Given the description of an element on the screen output the (x, y) to click on. 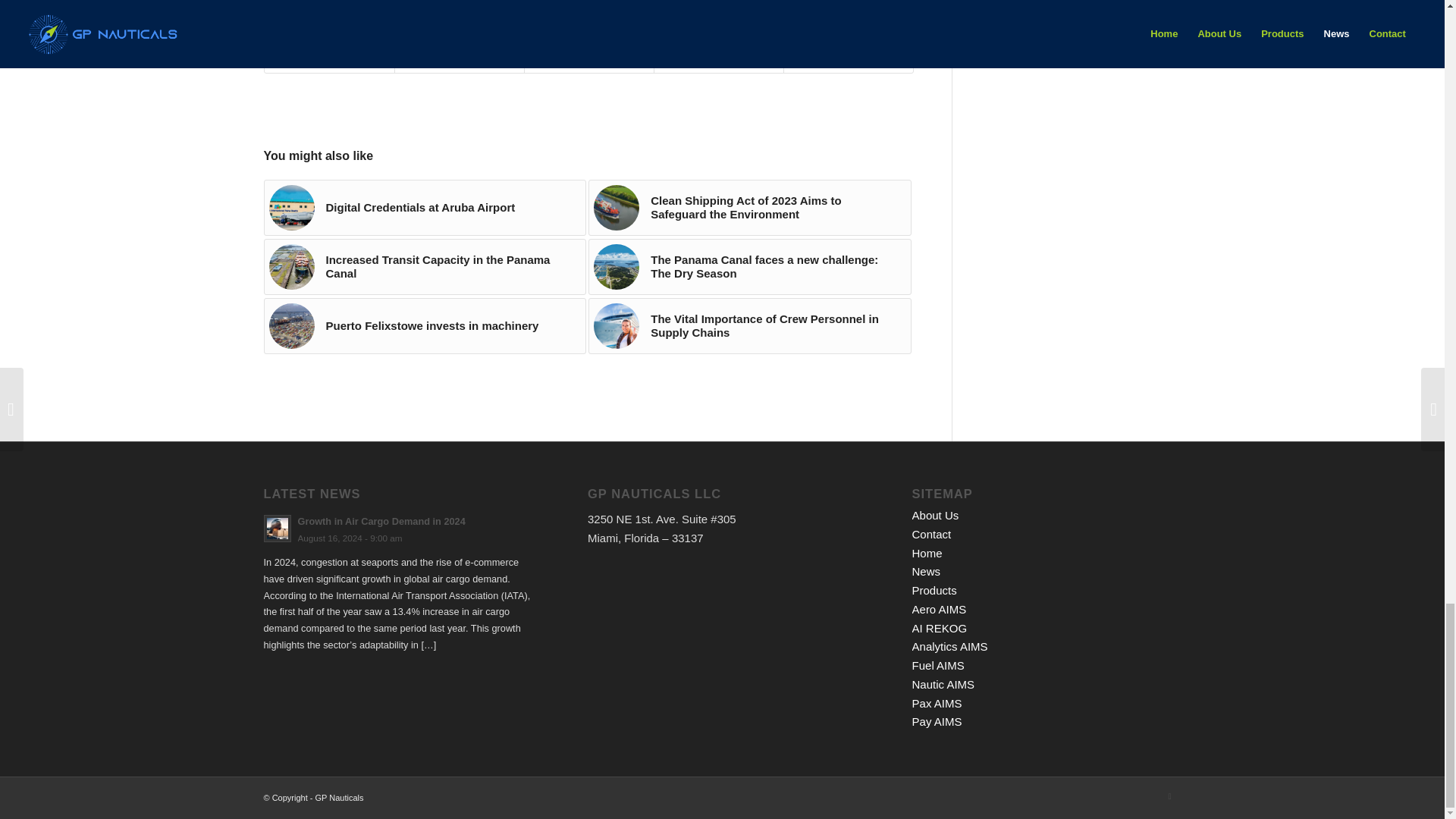
Clean Shipping Act of 2023 Aims to Safeguard the Environment (749, 207)
Clean Shipping Act of 2023 Aims to Safeguard the Environment (749, 207)
Digital Credentials at Aruba Airport (424, 207)
The Vital Importance of Crew Personnel in Supply Chains (749, 325)
Increased Transit Capacity in the Panama Canal (424, 266)
Puerto Felixstowe invests in machinery (424, 325)
28.-Credenciales-digitales-en-Aeropuerto-de-Aruba (290, 207)
The Panama Canal faces a new challenge: The Dry Season (749, 266)
Digital Credentials at Aruba Airport (424, 207)
Increased Transit Capacity in the Panama Canal (424, 266)
